Given the description of an element on the screen output the (x, y) to click on. 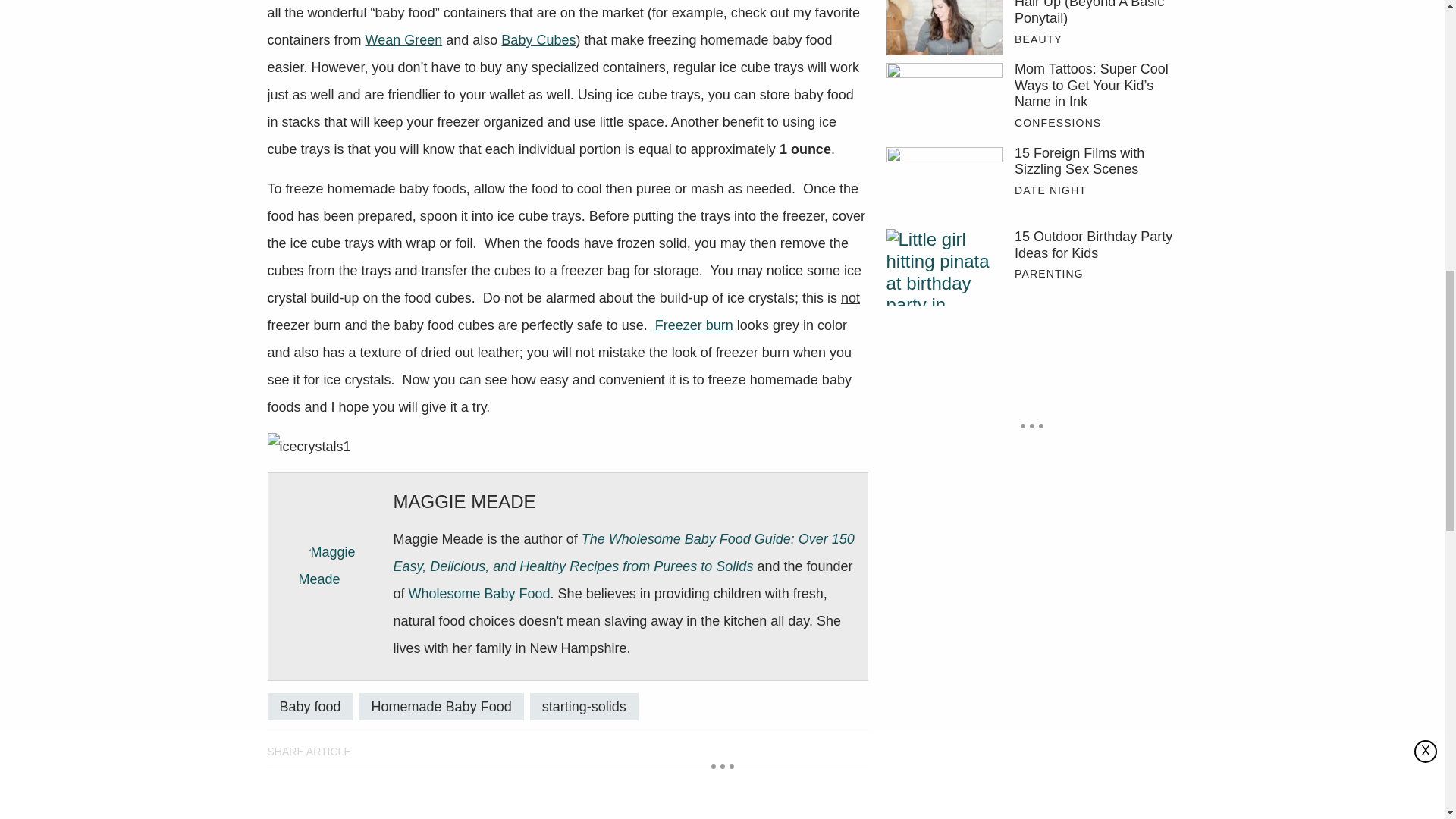
15 Outdoor Birthday Party Ideas for Kids (1095, 245)
15 Foreign Films with Sizzling Sex Scenes (944, 183)
15 Outdoor Birthday Party Ideas for Kids (944, 267)
Homemade Baby Food (441, 706)
starting-solids (584, 706)
Baby Cubes (537, 39)
icecrystals1 (308, 446)
Freezer burn (691, 324)
15 Foreign Films with Sizzling Sex Scenes (1095, 161)
Wean Green (403, 39)
